Given the description of an element on the screen output the (x, y) to click on. 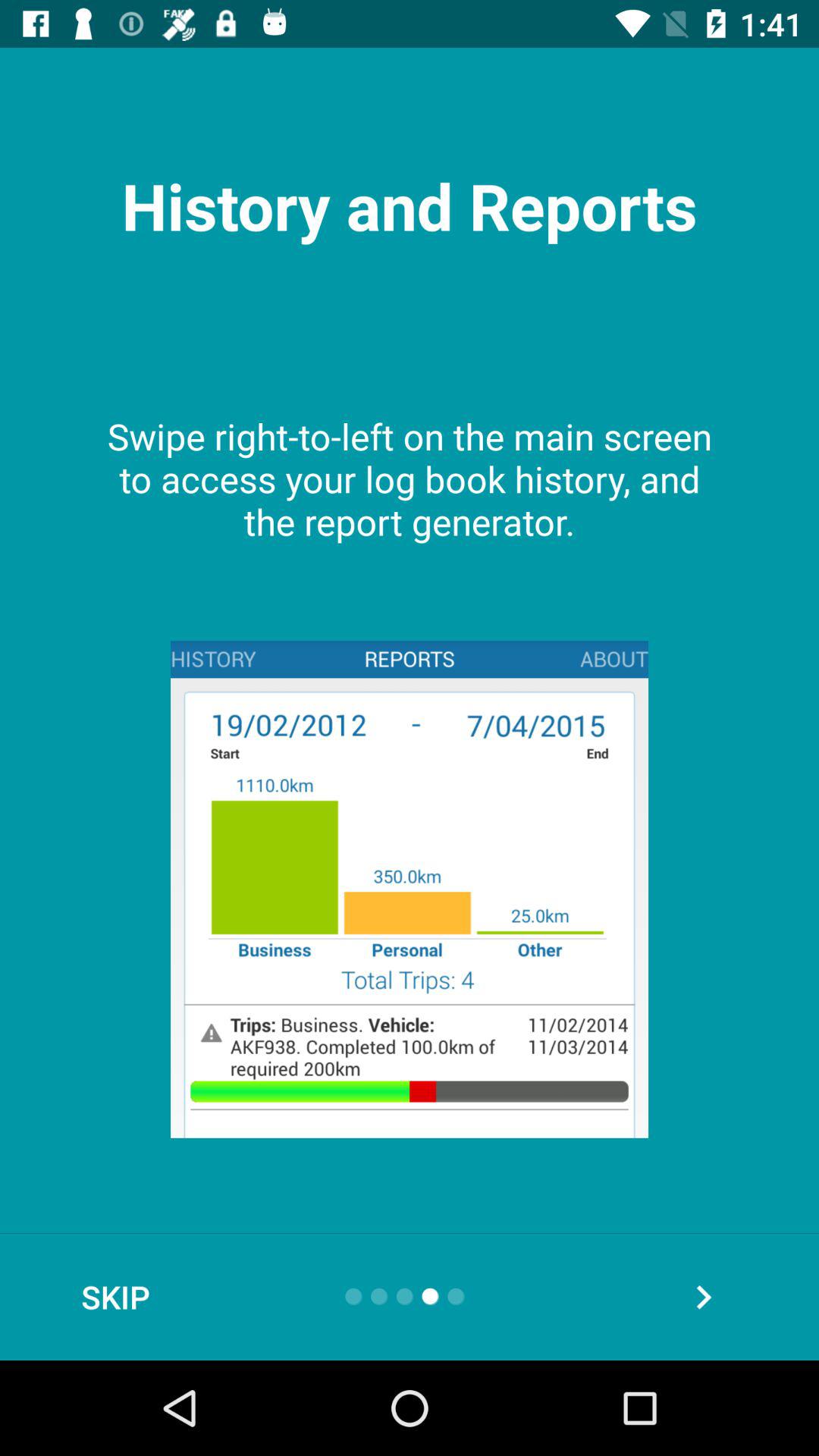
turn on skip icon (114, 1296)
